Given the description of an element on the screen output the (x, y) to click on. 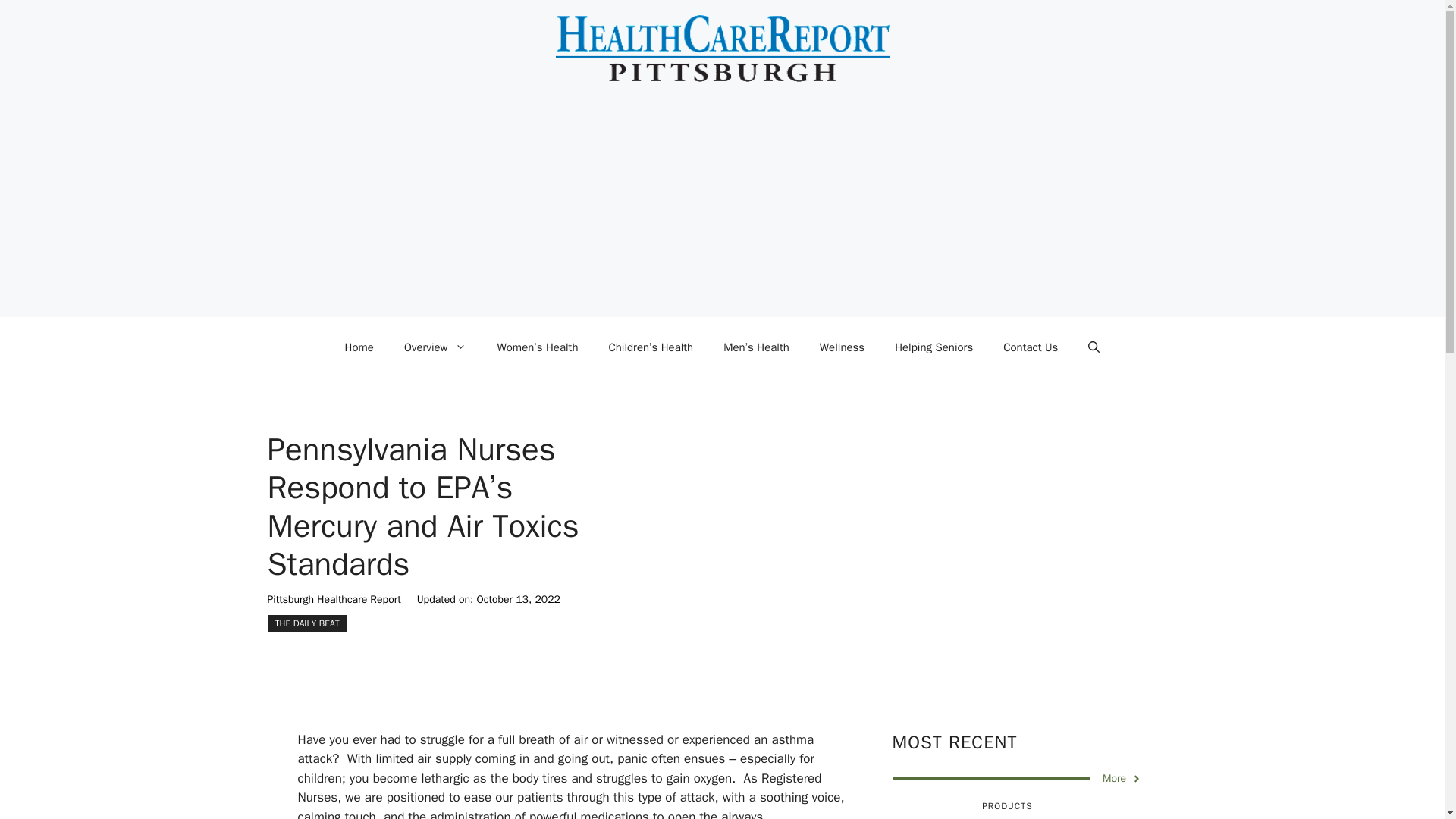
Home (359, 347)
Overview (434, 347)
More (1121, 778)
Wellness (842, 347)
Helping Seniors (933, 347)
Pittsburgh Healthcare Report (333, 599)
Contact Us (1030, 347)
THE DAILY BEAT (306, 623)
